Given the description of an element on the screen output the (x, y) to click on. 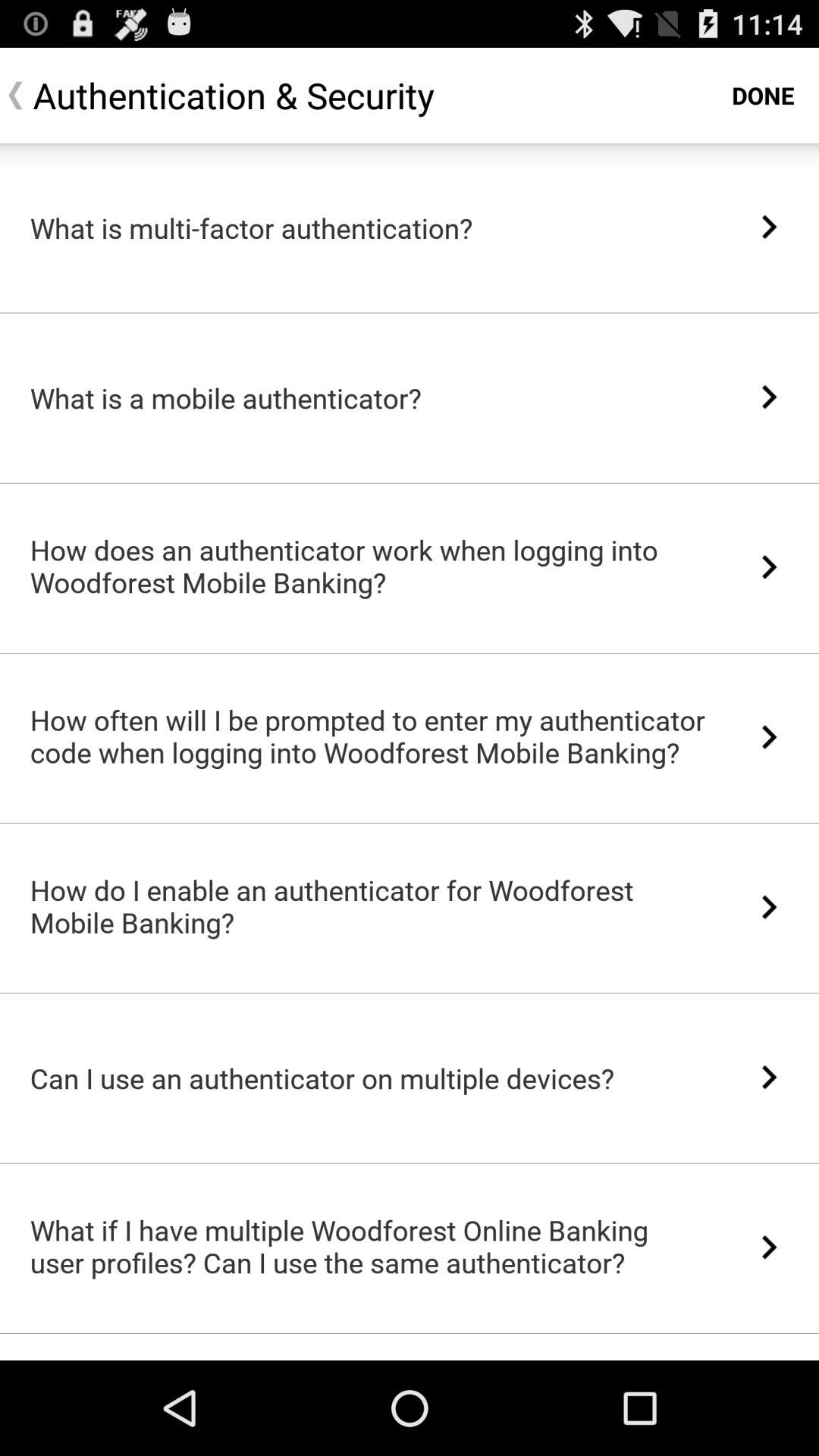
press the item next to the how does an (768, 566)
